Given the description of an element on the screen output the (x, y) to click on. 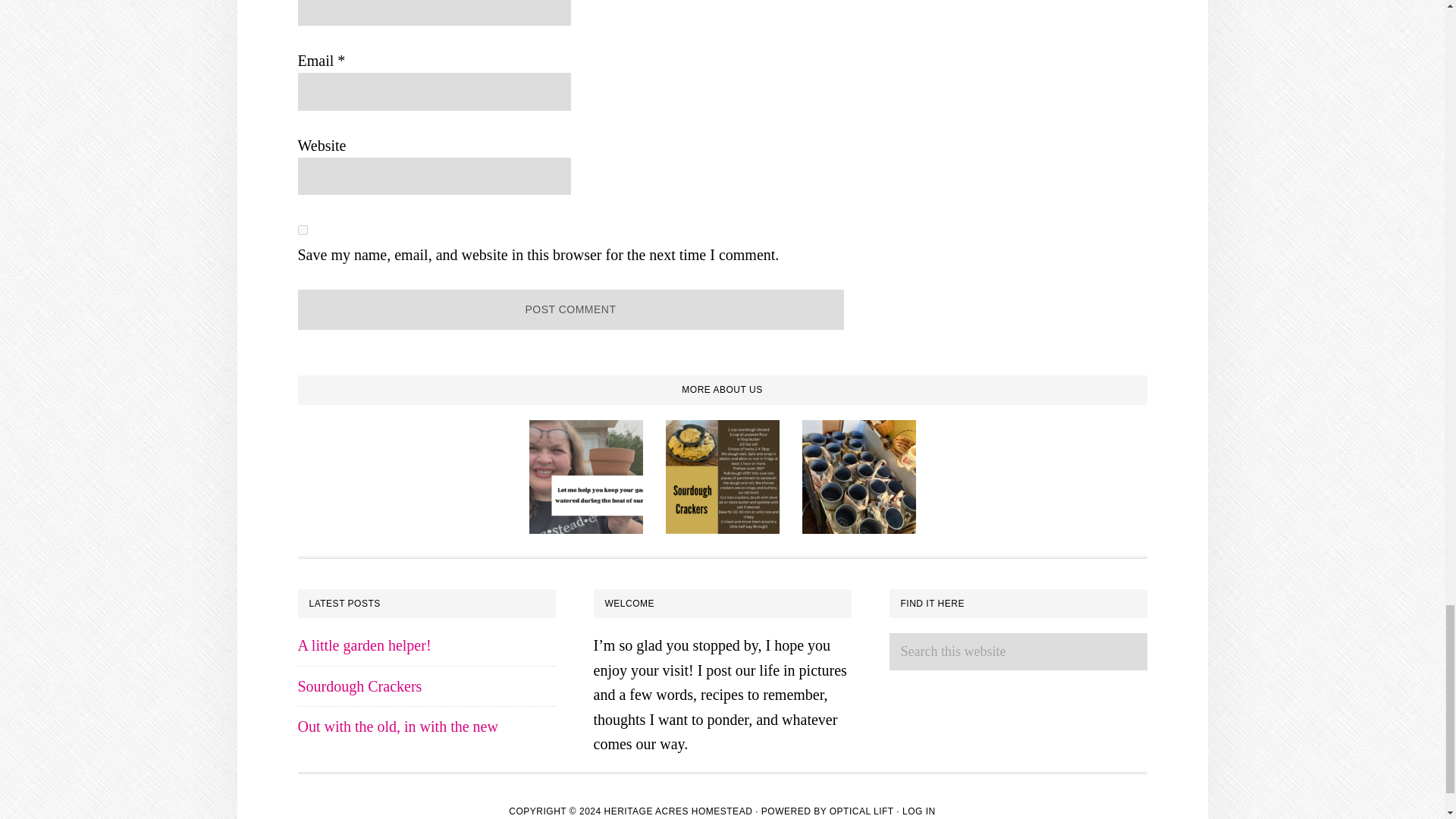
Post Comment (570, 309)
yes (302, 230)
